Given the description of an element on the screen output the (x, y) to click on. 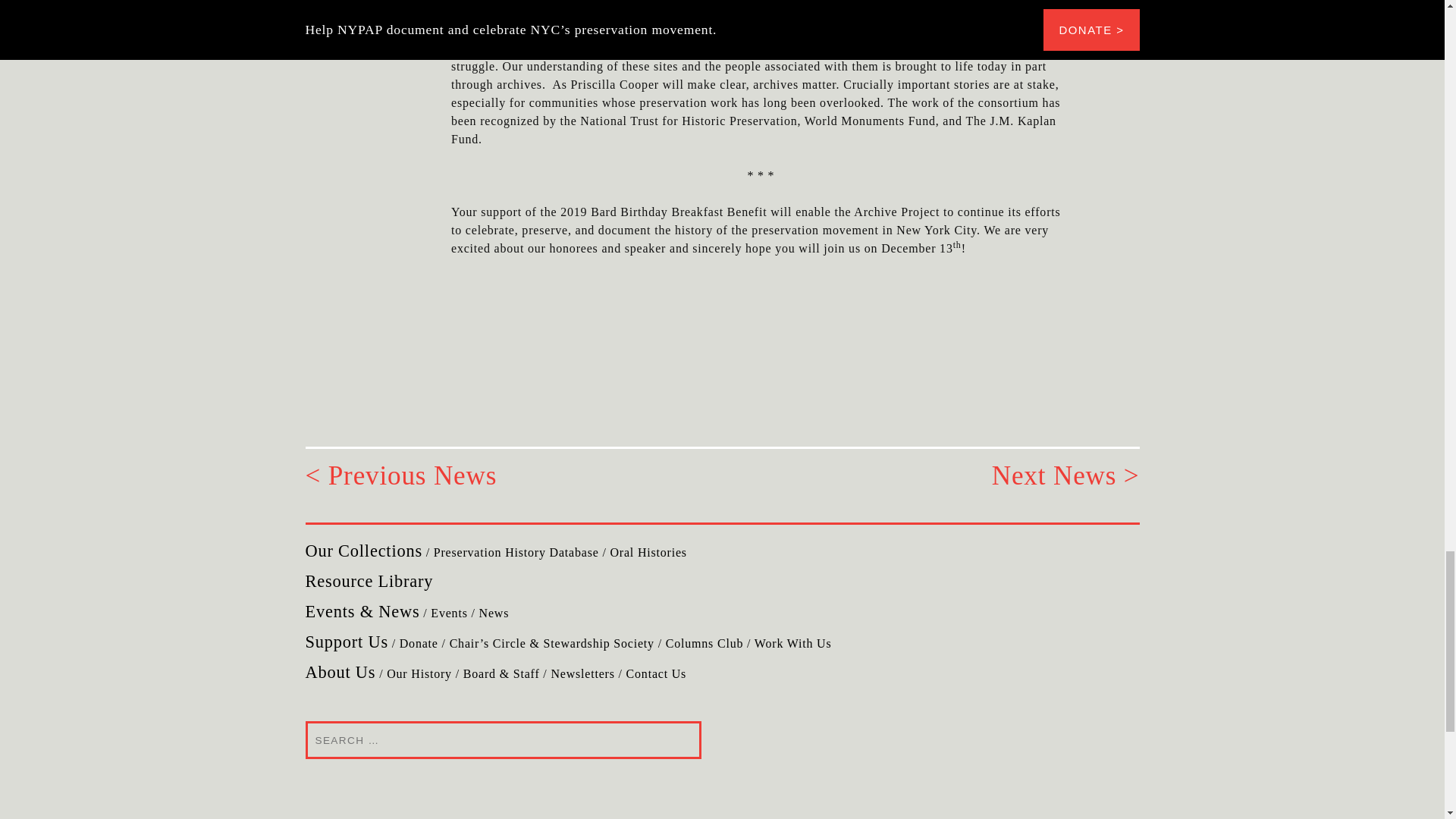
Donate (418, 643)
Columns Club (704, 643)
Our History (419, 673)
Preservation History Database (515, 552)
Oral Histories (647, 552)
Newsletters (582, 673)
Resource Library (368, 580)
Contact Us (656, 673)
Support Us (345, 641)
